Given the description of an element on the screen output the (x, y) to click on. 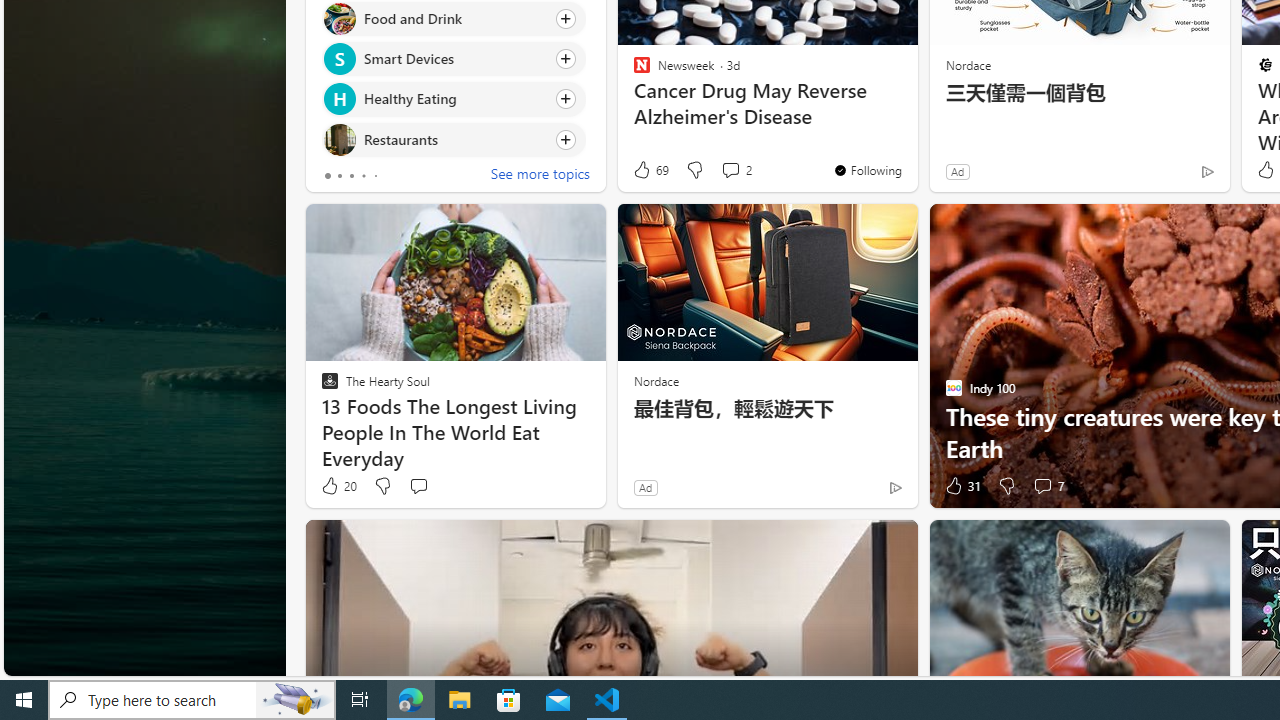
tab-4 (374, 175)
View comments 7 Comment (1042, 485)
tab-2 (351, 175)
See more topics (540, 175)
Click to follow topic Food and Drink (453, 18)
tab-3 (363, 175)
You're following Newsweek (866, 169)
